Given the description of an element on the screen output the (x, y) to click on. 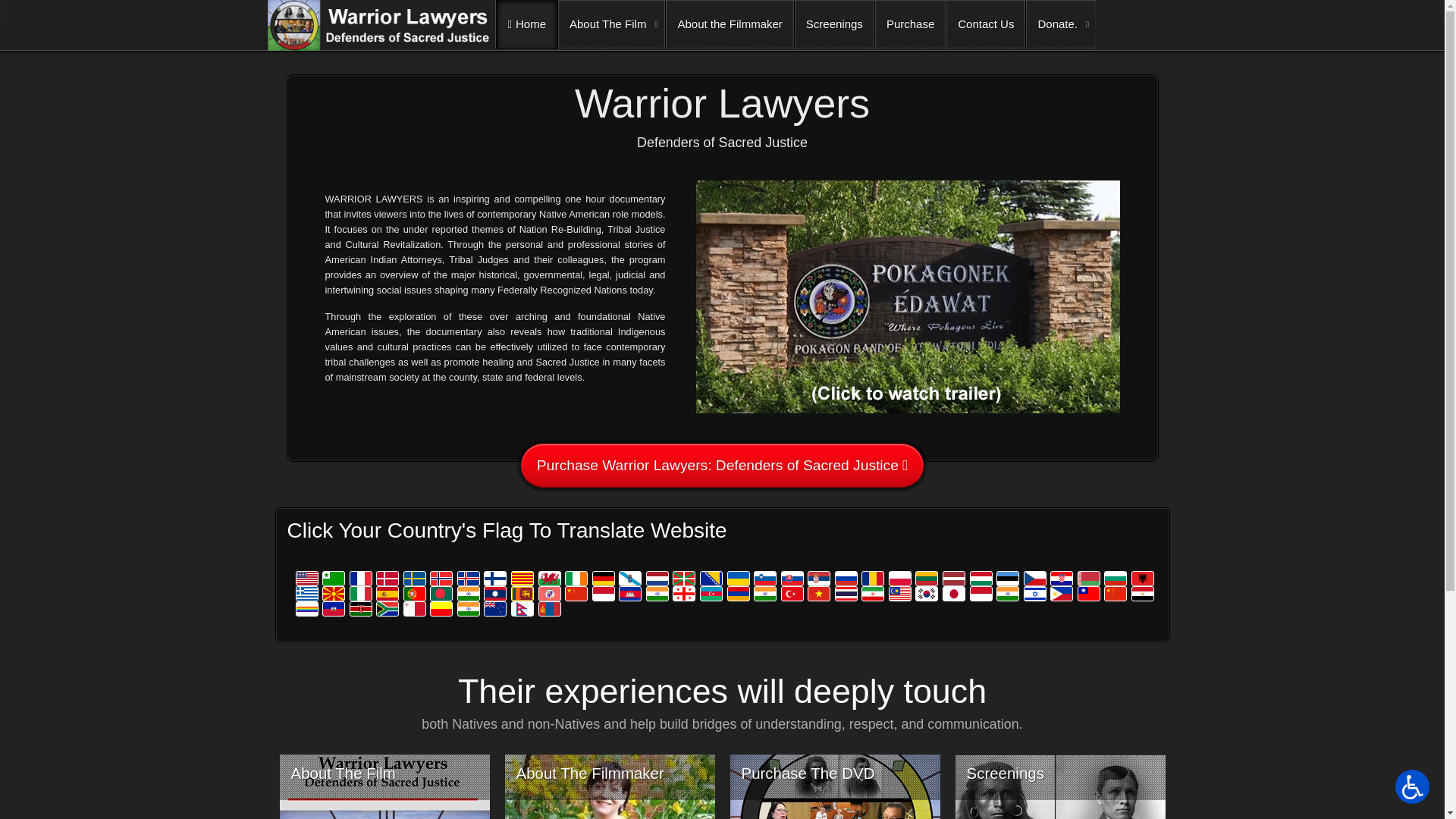
 Dansk (388, 577)
Purchase (909, 24)
 Galego (631, 577)
 Norsk (442, 577)
 Svenska (416, 577)
 Nederlands (658, 577)
Screenings (834, 24)
About The Film (611, 24)
 English (308, 577)
 Euskara (685, 577)
 Deutsch (604, 577)
Contact Us (985, 24)
 Cymraeg (551, 577)
Donate. (1061, 24)
 Gaeilge (577, 577)
